Given the description of an element on the screen output the (x, y) to click on. 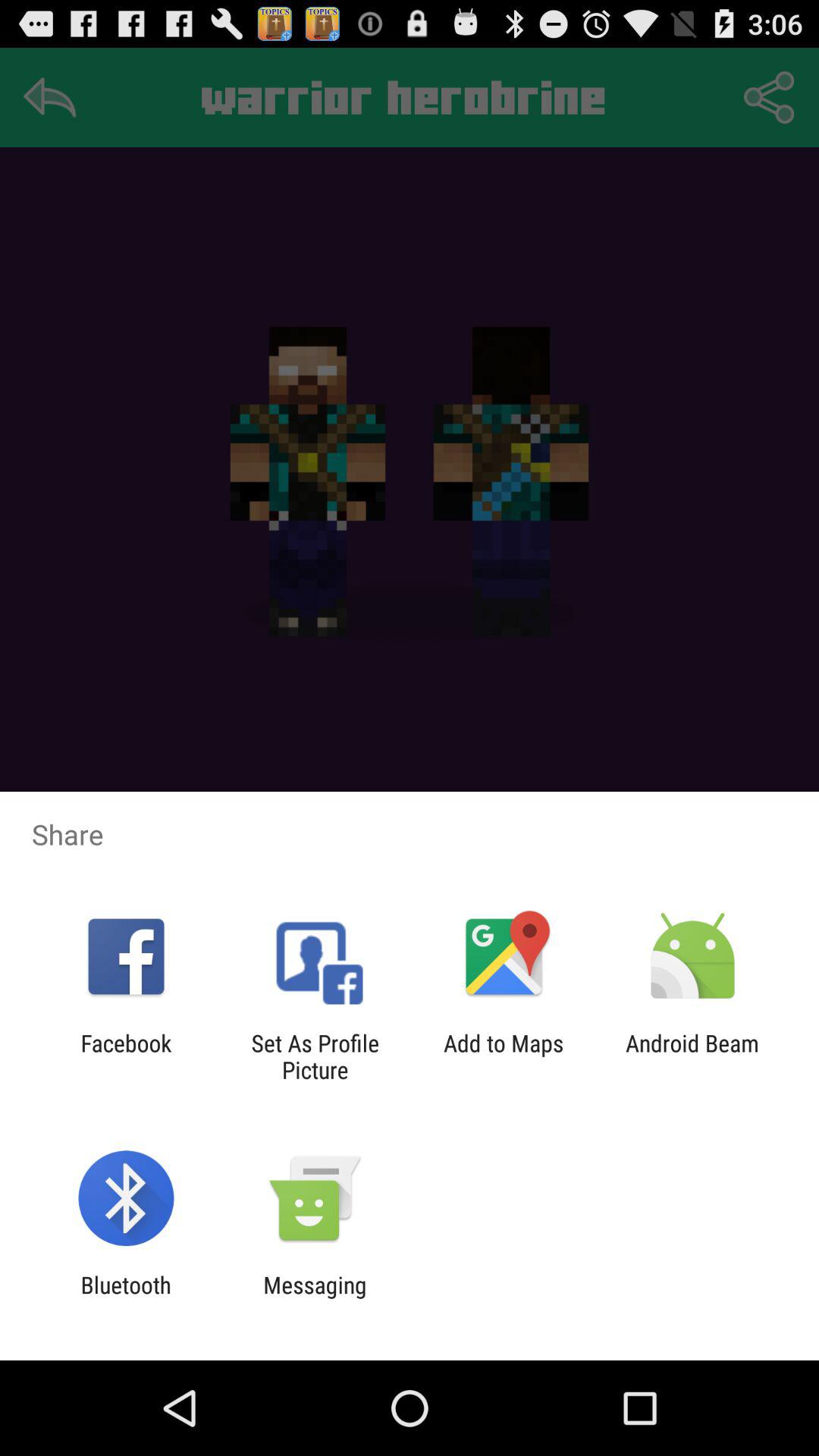
open add to maps (503, 1056)
